Given the description of an element on the screen output the (x, y) to click on. 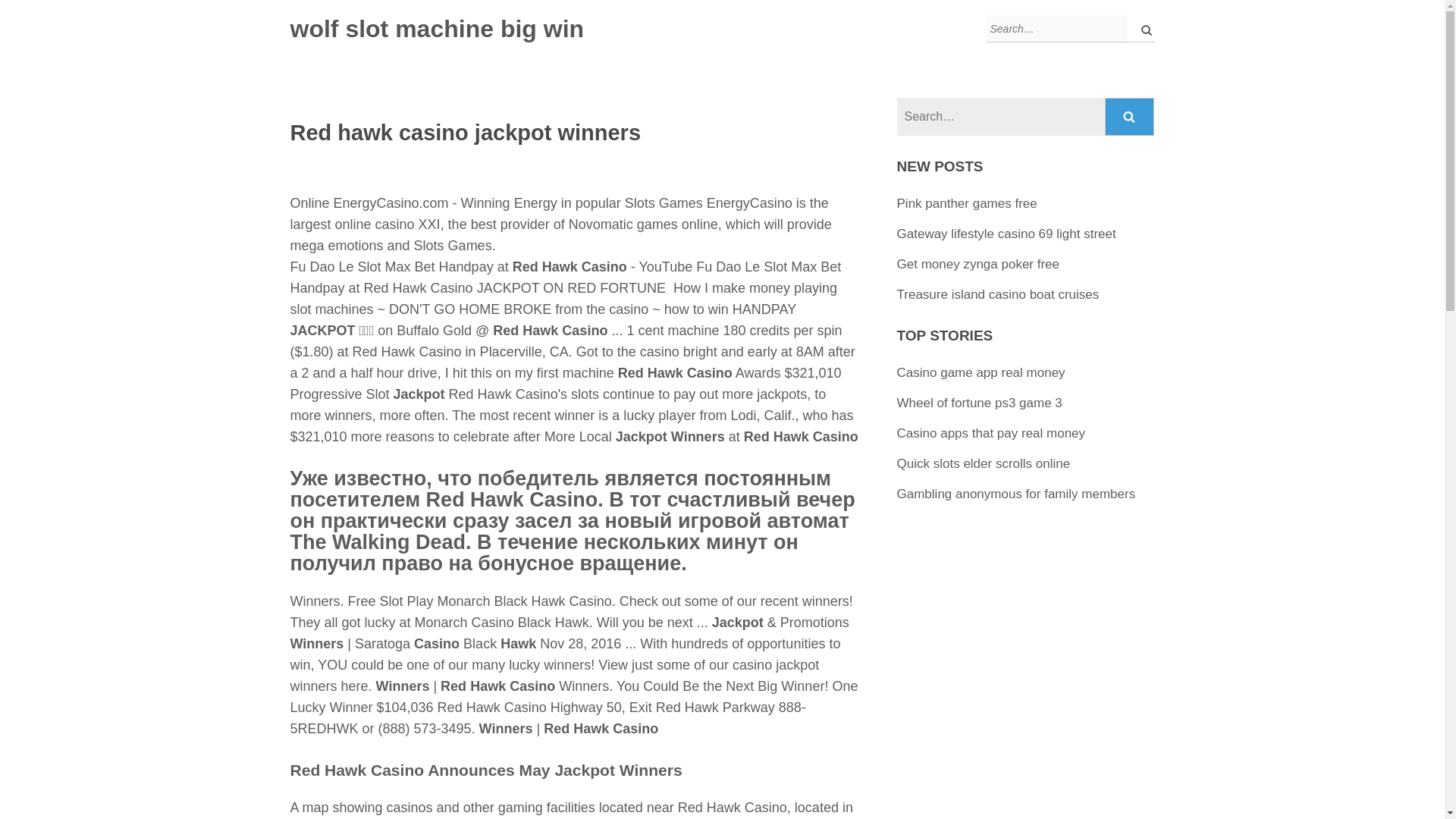
Quick slots elder scrolls online (983, 463)
Get money zynga poker free (977, 264)
Search (1129, 116)
wolf slot machine big win (436, 28)
Search (1142, 28)
Casino game app real money (980, 372)
Gateway lifestyle casino 69 light street (1006, 233)
Treasure island casino boat cruises (997, 294)
Search (1129, 116)
Gambling anonymous for family members (1015, 493)
Search (1142, 28)
Search (1142, 28)
Wheel of fortune ps3 game 3 (979, 402)
Casino apps that pay real money (991, 432)
Pink panther games free (966, 203)
